Given the description of an element on the screen output the (x, y) to click on. 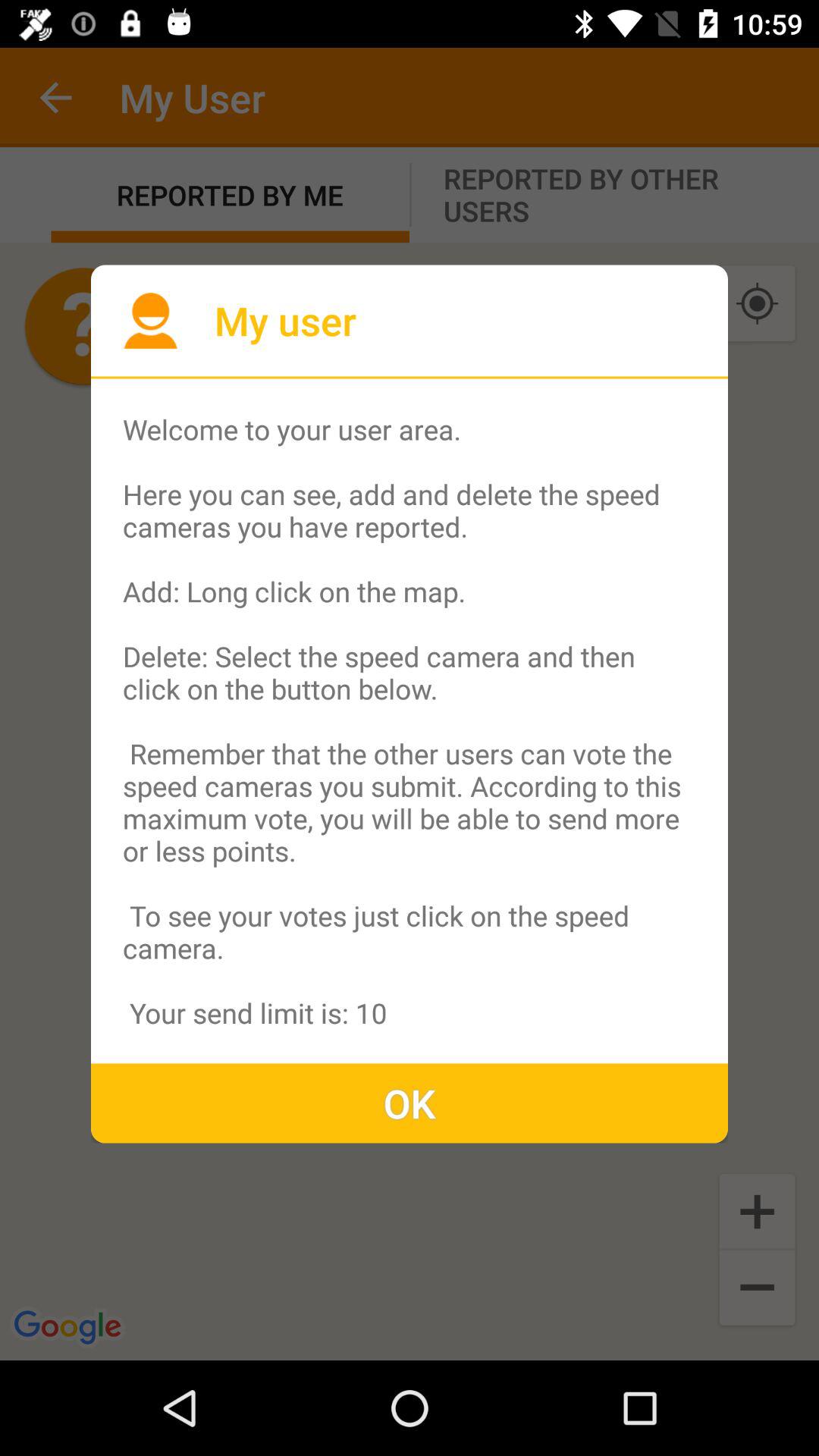
press the item below welcome to your item (409, 1103)
